Given the description of an element on the screen output the (x, y) to click on. 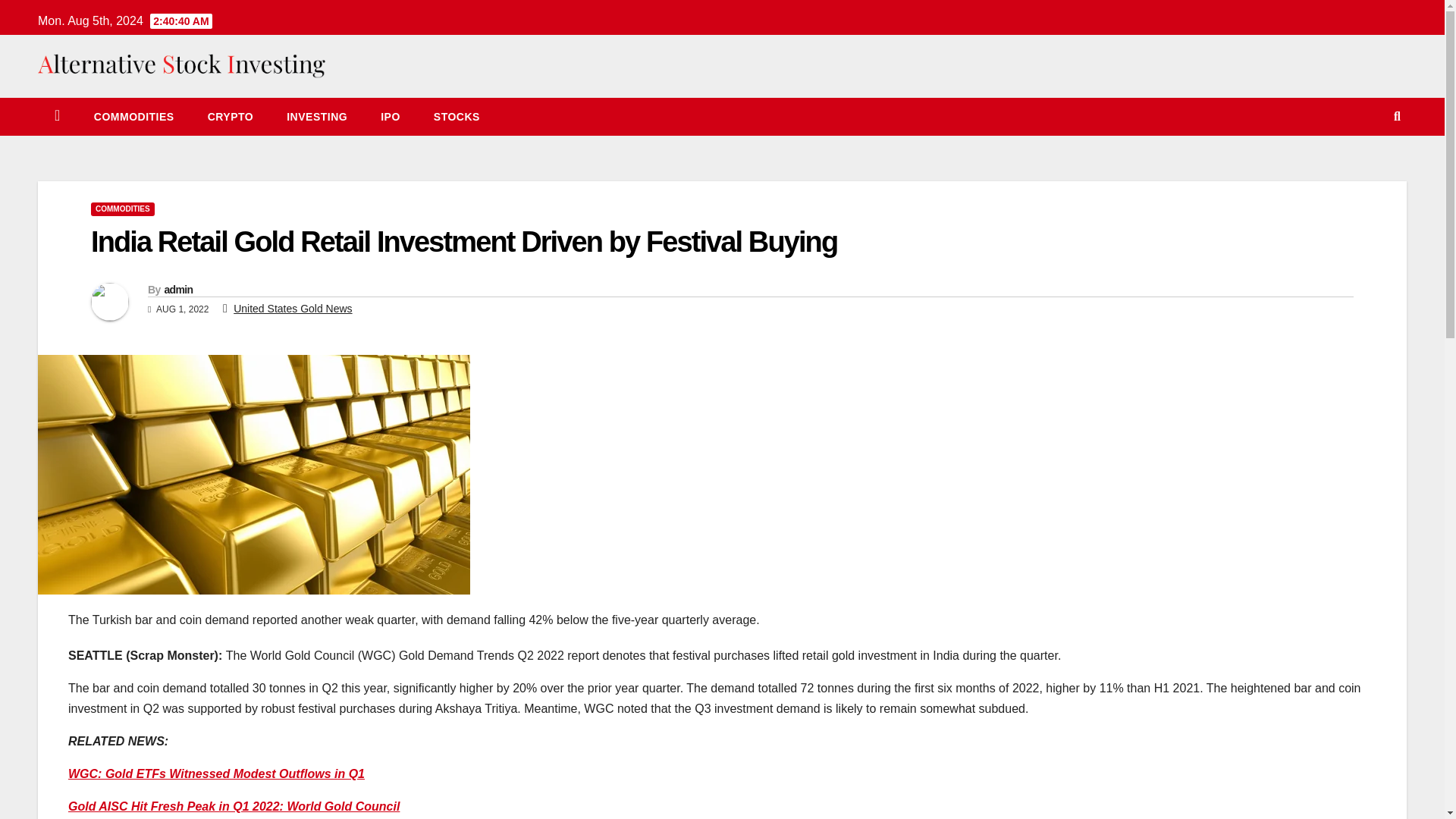
CRYPTO (230, 116)
IPO (390, 116)
Investing (316, 116)
COMMODITIES (133, 116)
INVESTING (316, 116)
Stocks (456, 116)
United States Gold News (292, 308)
STOCKS (456, 116)
Commodities (133, 116)
IPO (390, 116)
Gold AISC Hit Fresh Peak in Q1 2022: World Gold Council (233, 806)
admin (177, 289)
COMMODITIES (122, 209)
Crypto (230, 116)
